Given the description of an element on the screen output the (x, y) to click on. 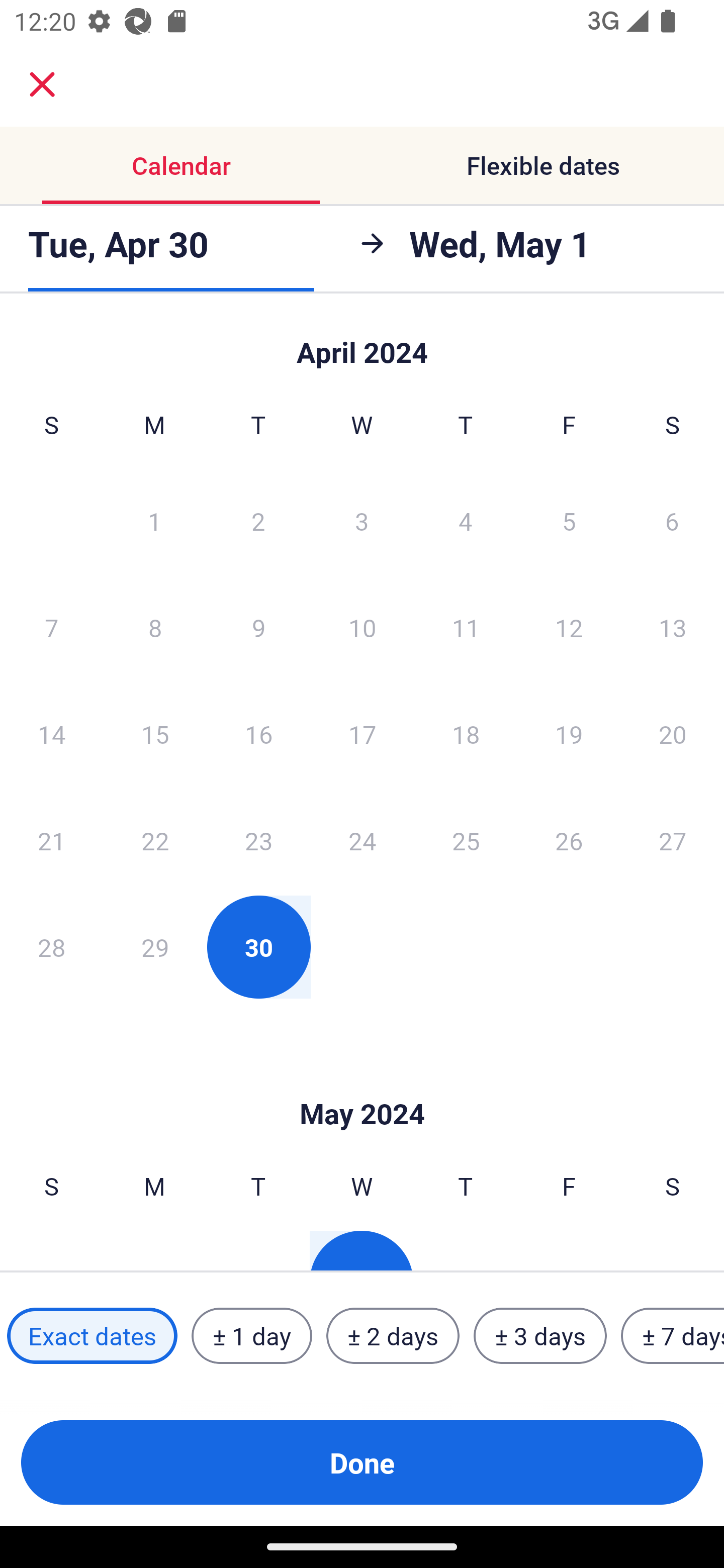
close. (42, 84)
Flexible dates (542, 164)
Skip to Done (362, 343)
1 Monday, April 1, 2024 (154, 520)
2 Tuesday, April 2, 2024 (257, 520)
3 Wednesday, April 3, 2024 (361, 520)
4 Thursday, April 4, 2024 (465, 520)
5 Friday, April 5, 2024 (568, 520)
6 Saturday, April 6, 2024 (672, 520)
7 Sunday, April 7, 2024 (51, 626)
8 Monday, April 8, 2024 (155, 626)
9 Tuesday, April 9, 2024 (258, 626)
10 Wednesday, April 10, 2024 (362, 626)
11 Thursday, April 11, 2024 (465, 626)
12 Friday, April 12, 2024 (569, 626)
13 Saturday, April 13, 2024 (672, 626)
14 Sunday, April 14, 2024 (51, 733)
15 Monday, April 15, 2024 (155, 733)
16 Tuesday, April 16, 2024 (258, 733)
17 Wednesday, April 17, 2024 (362, 733)
18 Thursday, April 18, 2024 (465, 733)
19 Friday, April 19, 2024 (569, 733)
20 Saturday, April 20, 2024 (672, 733)
21 Sunday, April 21, 2024 (51, 840)
22 Monday, April 22, 2024 (155, 840)
23 Tuesday, April 23, 2024 (258, 840)
24 Wednesday, April 24, 2024 (362, 840)
25 Thursday, April 25, 2024 (465, 840)
26 Friday, April 26, 2024 (569, 840)
27 Saturday, April 27, 2024 (672, 840)
28 Sunday, April 28, 2024 (51, 946)
29 Monday, April 29, 2024 (155, 946)
Skip to Done (362, 1083)
Exact dates (92, 1335)
± 1 day (251, 1335)
± 2 days (392, 1335)
± 3 days (539, 1335)
± 7 days (672, 1335)
Done (361, 1462)
